Given the description of an element on the screen output the (x, y) to click on. 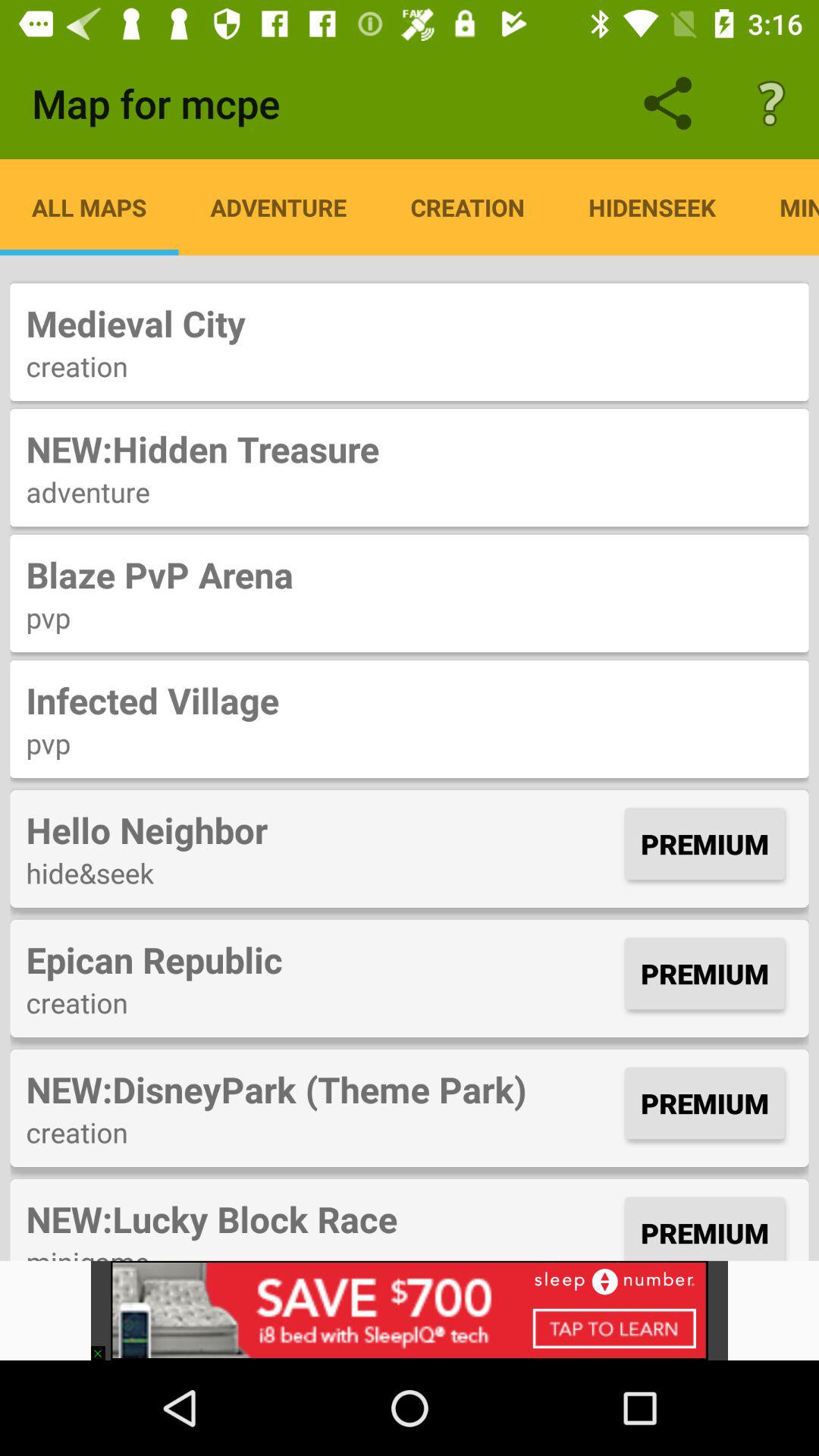
turn on icon next to the creation item (651, 207)
